Given the description of an element on the screen output the (x, y) to click on. 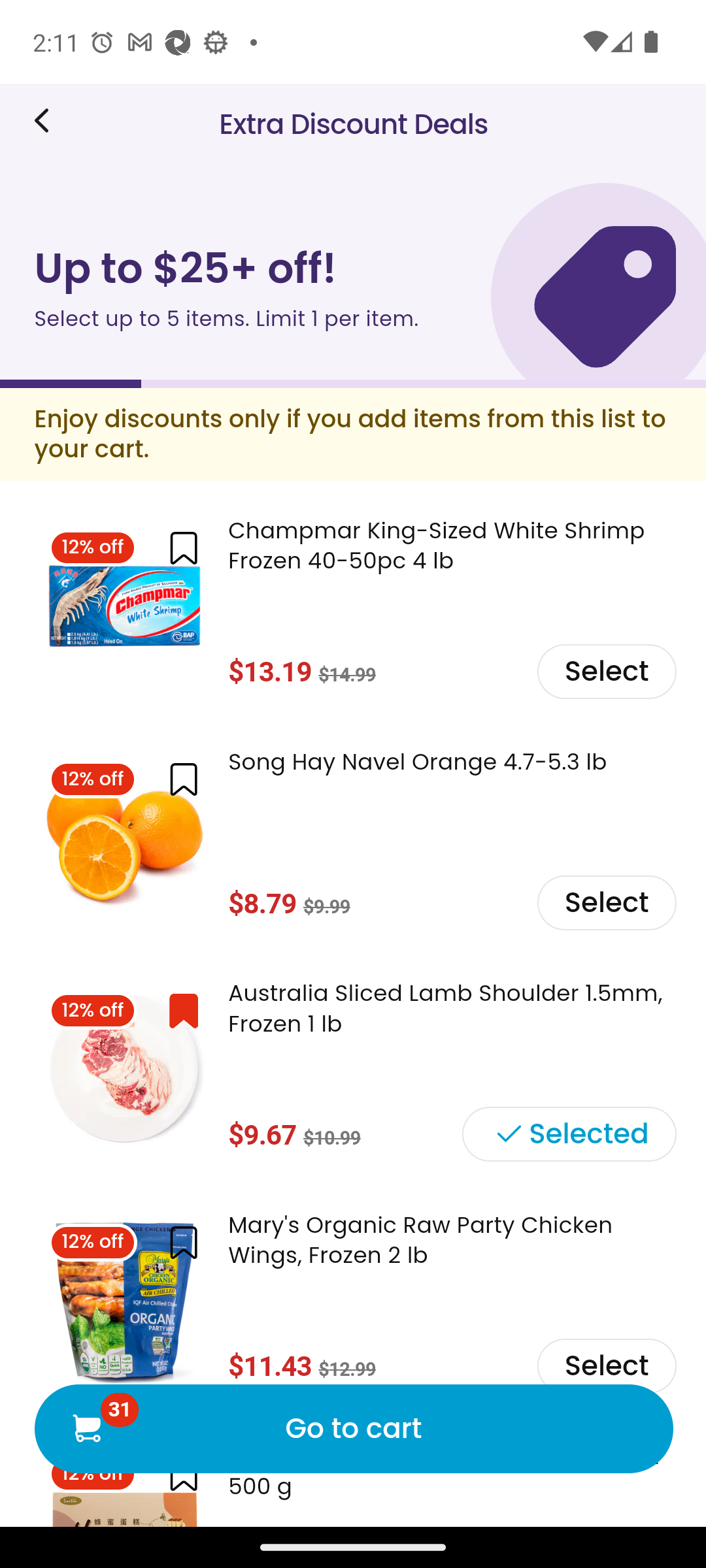
Weee! - Groceries Delivered (47, 119)
 (182, 548)
Select (606, 670)
 (182, 778)
Select (606, 901)
 (182, 1010)
 Selected (568, 1133)
 (182, 1242)
Select (606, 1364)
31  (86, 1427)
